Given the description of an element on the screen output the (x, y) to click on. 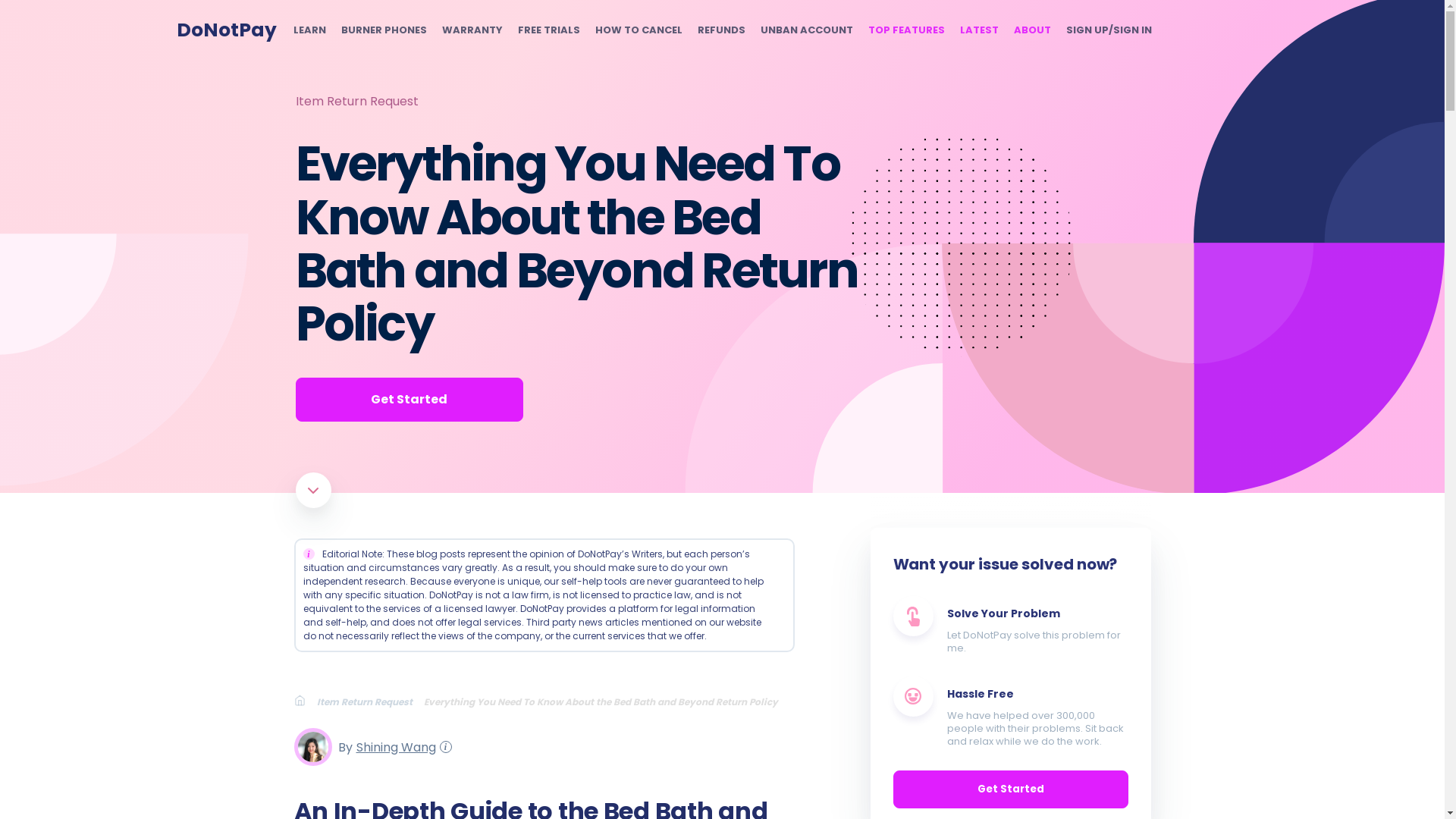
HOW TO CANCEL (637, 29)
UNBAN ACCOUNT (805, 29)
ABOUT (1031, 29)
Item Return Request (370, 700)
Item Return Request (357, 100)
TOP FEATURES (905, 29)
LATEST (978, 29)
FREE TRIALS (547, 29)
Get Started (408, 399)
Shining Wang (393, 746)
WARRANTY (471, 29)
DoNotPay (226, 29)
REFUNDS (721, 29)
LEARN (308, 29)
BURNER PHONES (383, 29)
